Given the description of an element on the screen output the (x, y) to click on. 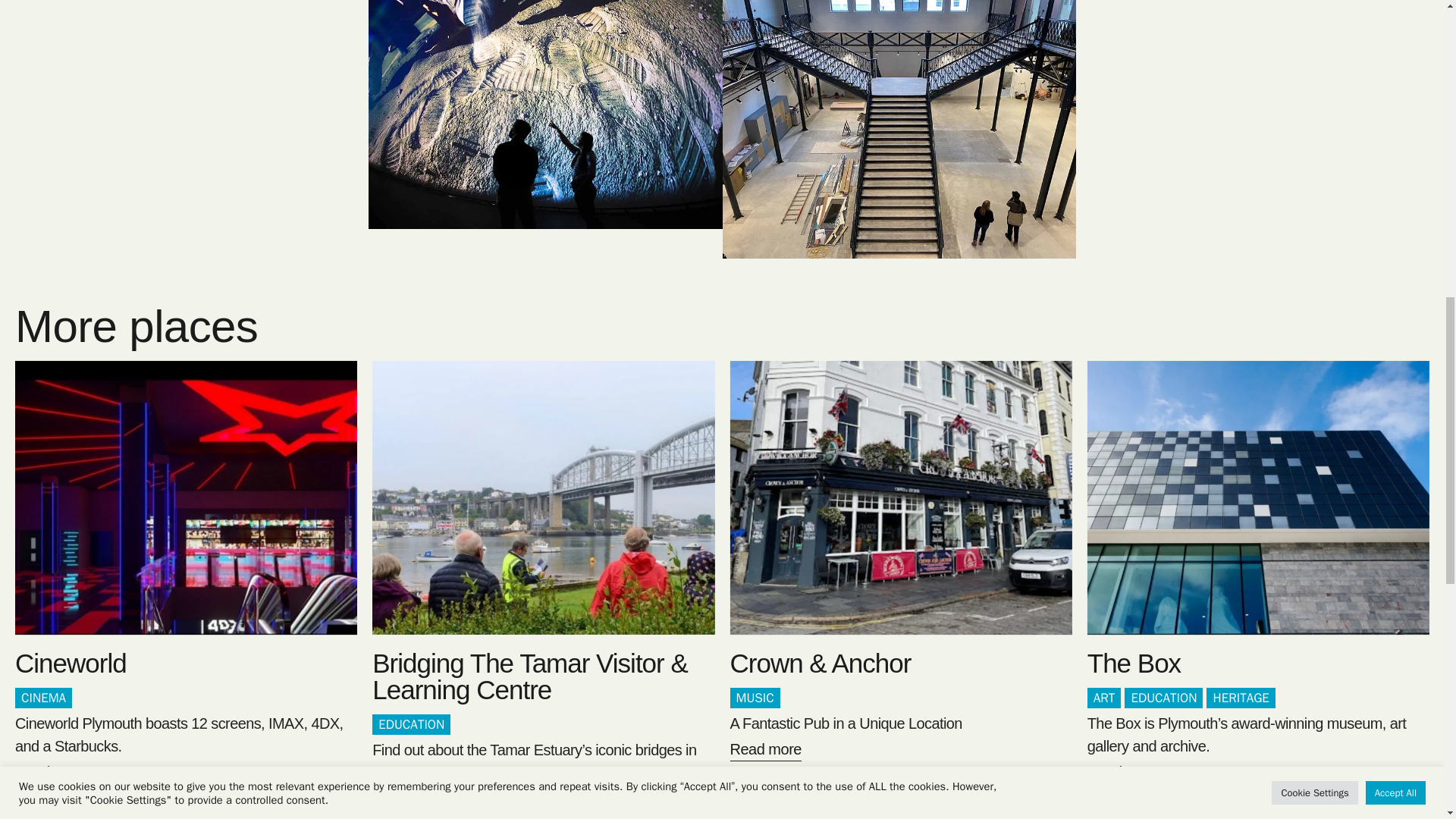
EDUCATION (1163, 698)
The Box (1133, 663)
Read more (49, 773)
ART (1104, 698)
Read more (408, 800)
Read more (1122, 773)
MUSIC (753, 698)
EDUCATION (410, 724)
CINEMA (42, 698)
Read more (764, 751)
